Given the description of an element on the screen output the (x, y) to click on. 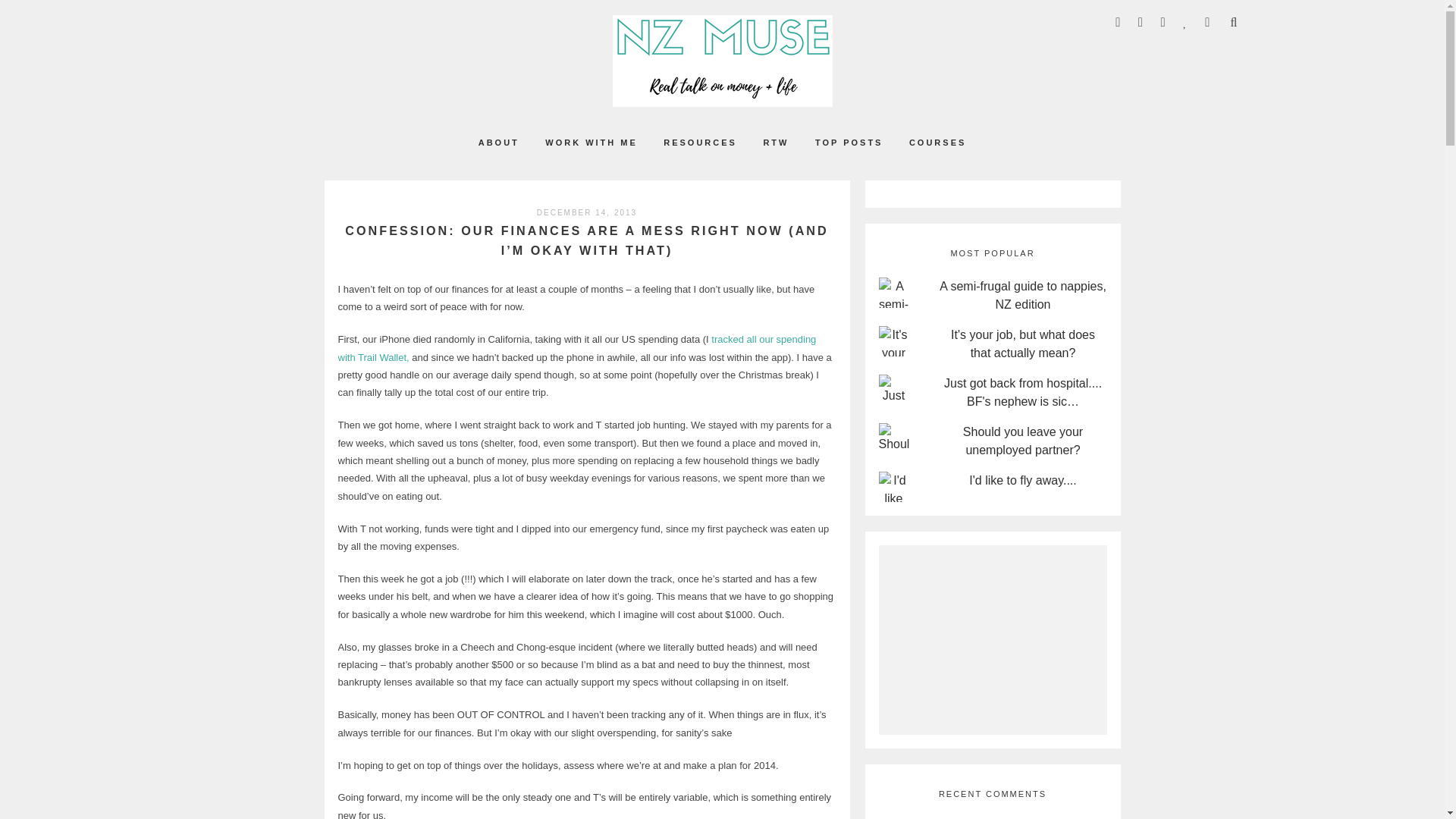
RESOURCES (699, 142)
tracked all our spending with Trail Wallet, (576, 347)
It's your job, but what does that actually mean? (1022, 348)
TOP POSTS (849, 142)
COURSES (937, 142)
ABOUT (499, 142)
A semi-frugal guide to nappies, NZ edition (1022, 300)
Should you leave your unemployed partner? (1022, 445)
WORK WITH ME (590, 142)
